Given the description of an element on the screen output the (x, y) to click on. 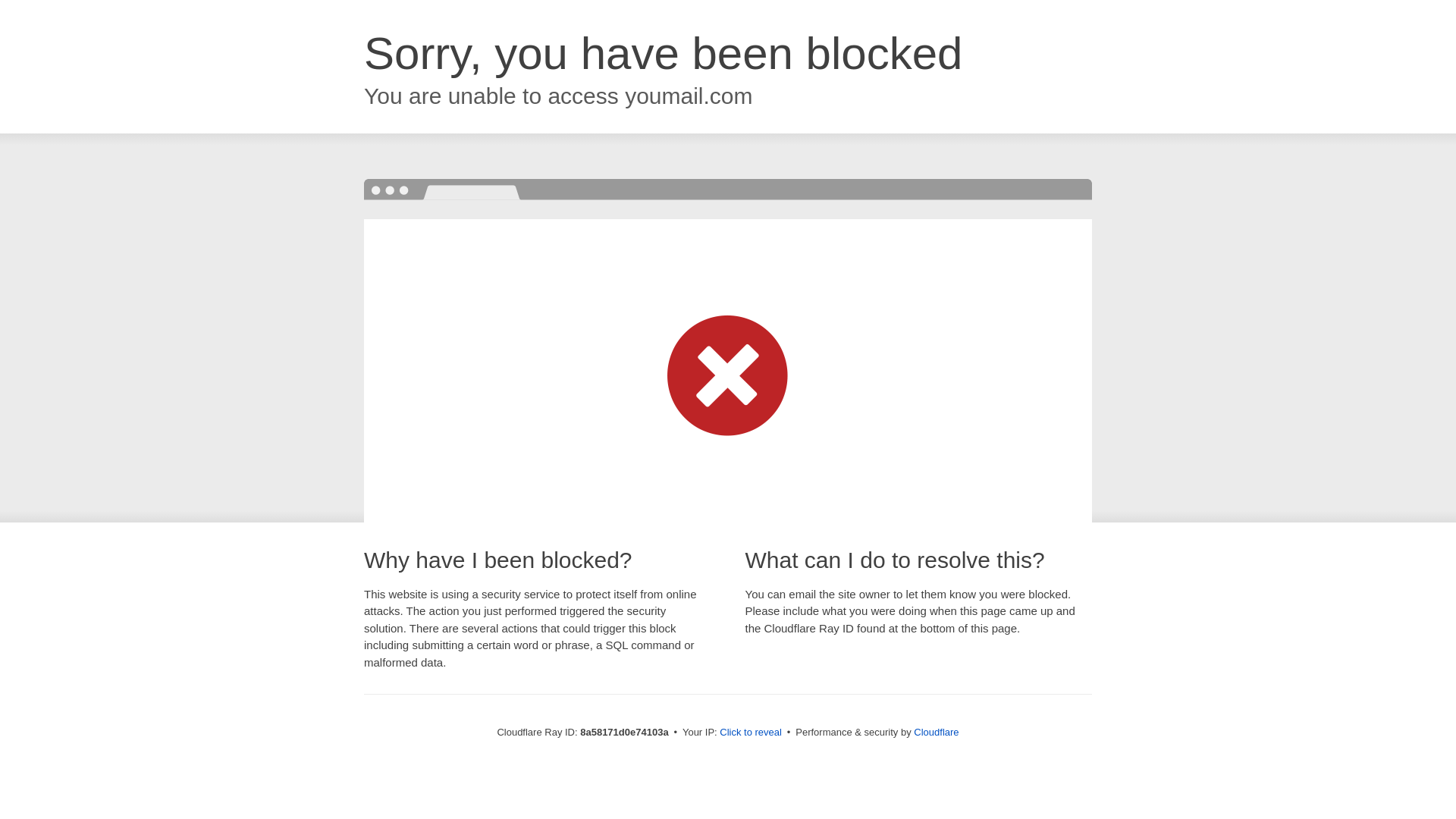
Click to reveal (750, 732)
Cloudflare (936, 731)
